Given the description of an element on the screen output the (x, y) to click on. 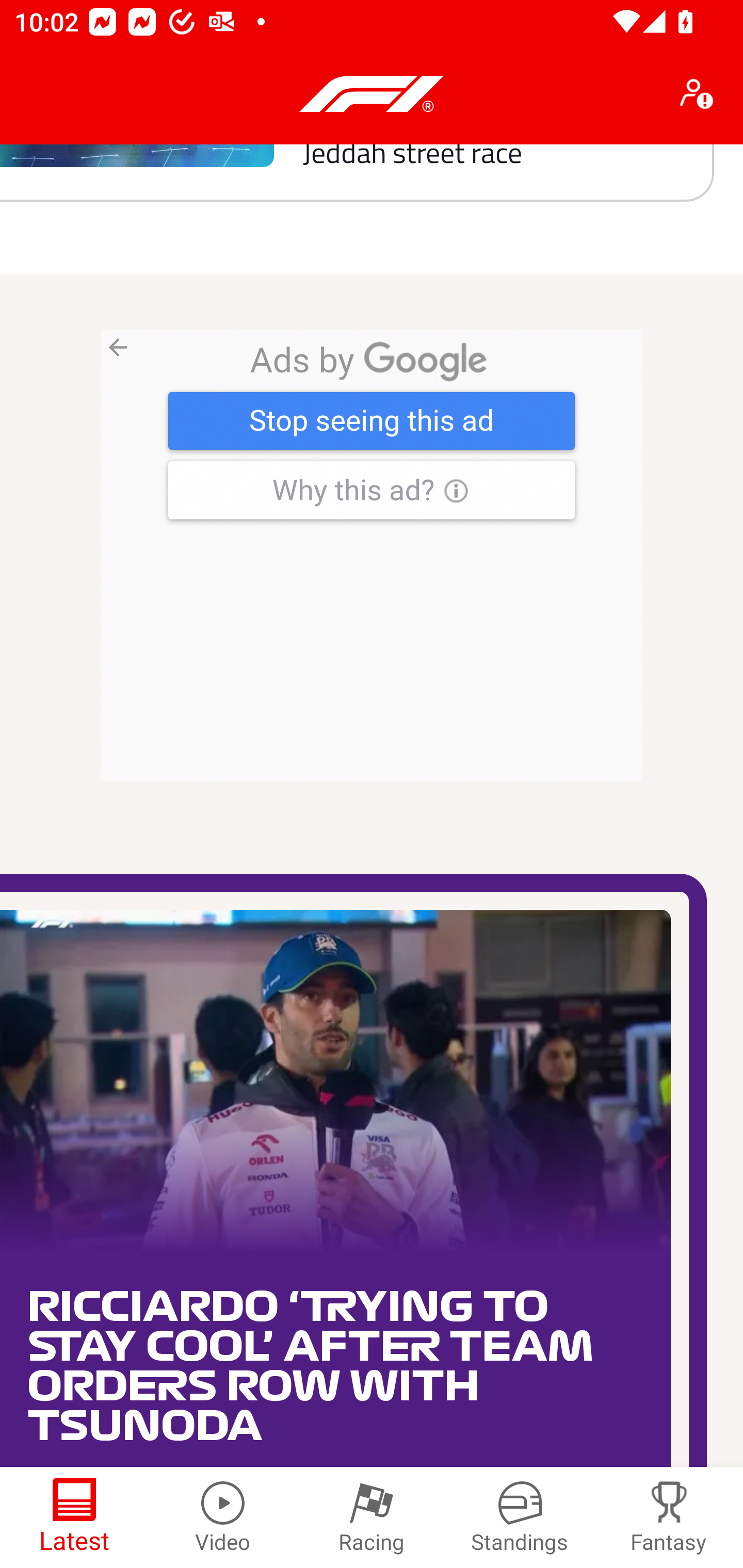
Video (222, 1517)
Racing (371, 1517)
Standings (519, 1517)
Fantasy (668, 1517)
